Given the description of an element on the screen output the (x, y) to click on. 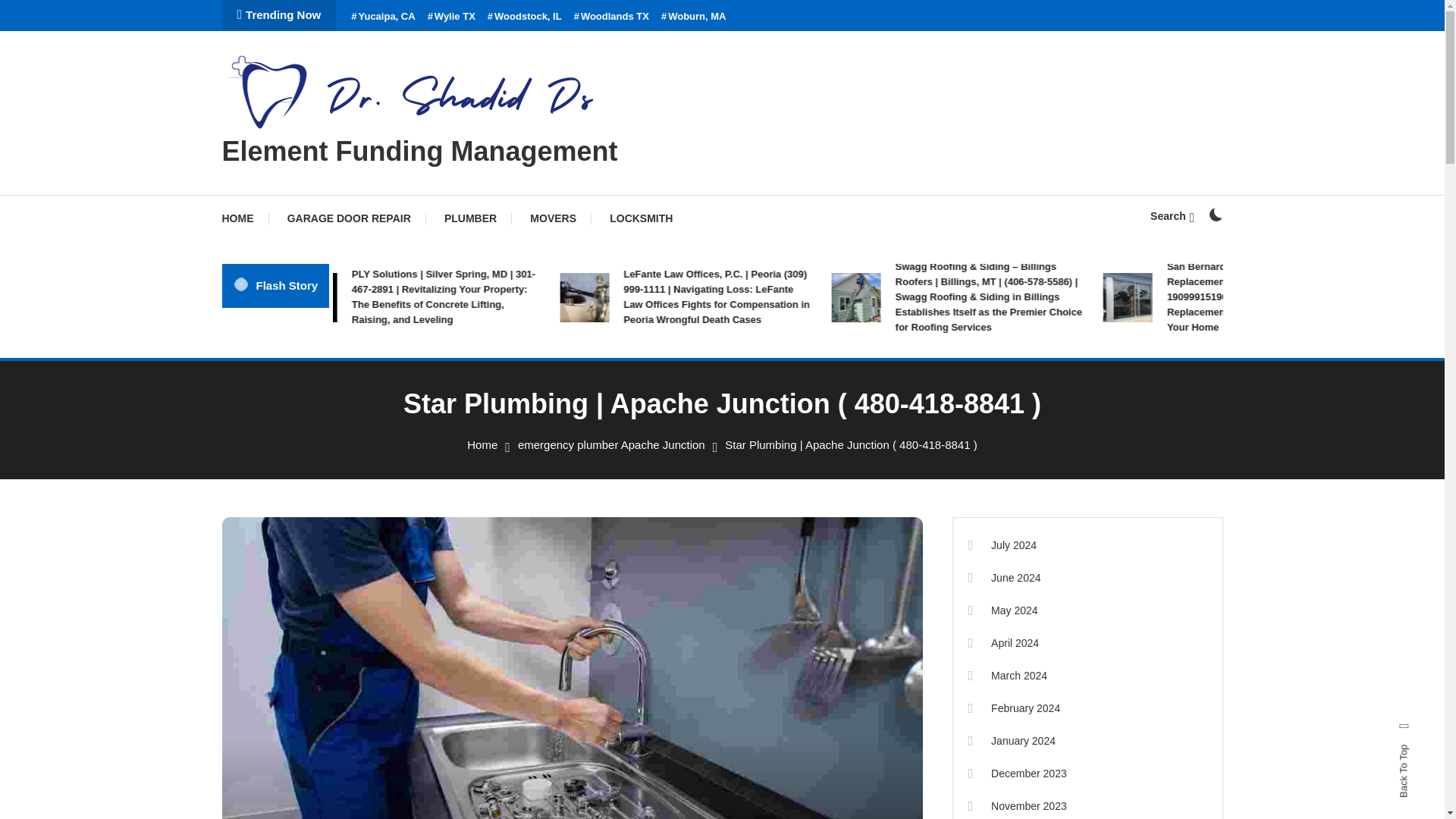
Wylie TX (452, 16)
Woodstock, IL (524, 16)
Search (1171, 215)
HOME (244, 217)
Yucaipa, CA (382, 16)
emergency plumber Apache Junction (611, 444)
LOCKSMITH (640, 217)
PLUMBER (470, 217)
Woodlands TX (611, 16)
Home (482, 444)
Search (768, 434)
Element Funding Management (419, 151)
Woburn, MA (693, 16)
on (1215, 214)
GARAGE DOOR REPAIR (349, 217)
